Given the description of an element on the screen output the (x, y) to click on. 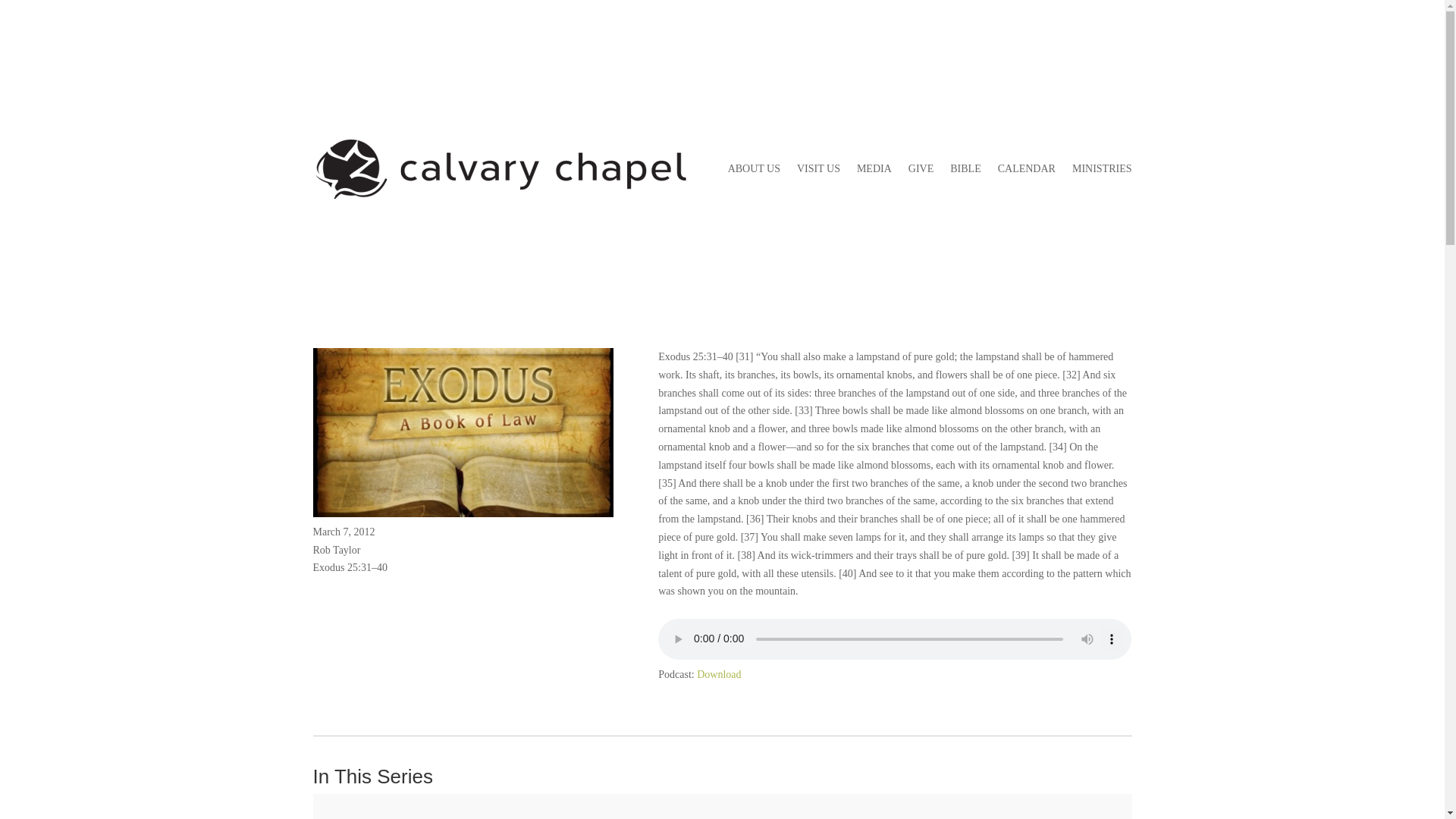
Download (719, 674)
Follow on Facebook (1118, 73)
Follow on iTunes (997, 73)
Follow on Spotify (1058, 73)
Download (719, 674)
Follow on Instagram (1088, 73)
Follow on Youtube (1028, 73)
